Given the description of an element on the screen output the (x, y) to click on. 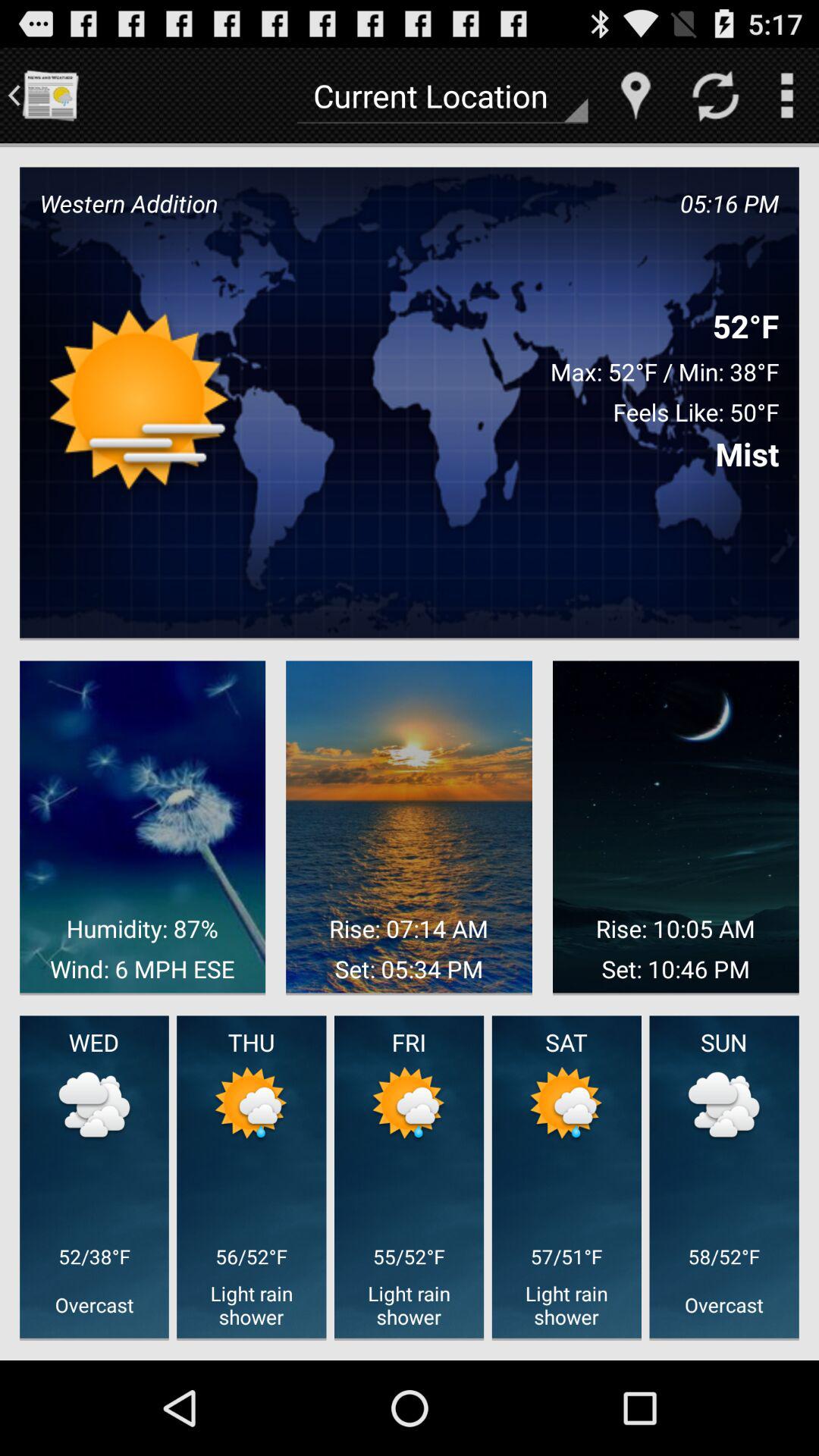
open item to the right of the current location icon (635, 95)
